Given the description of an element on the screen output the (x, y) to click on. 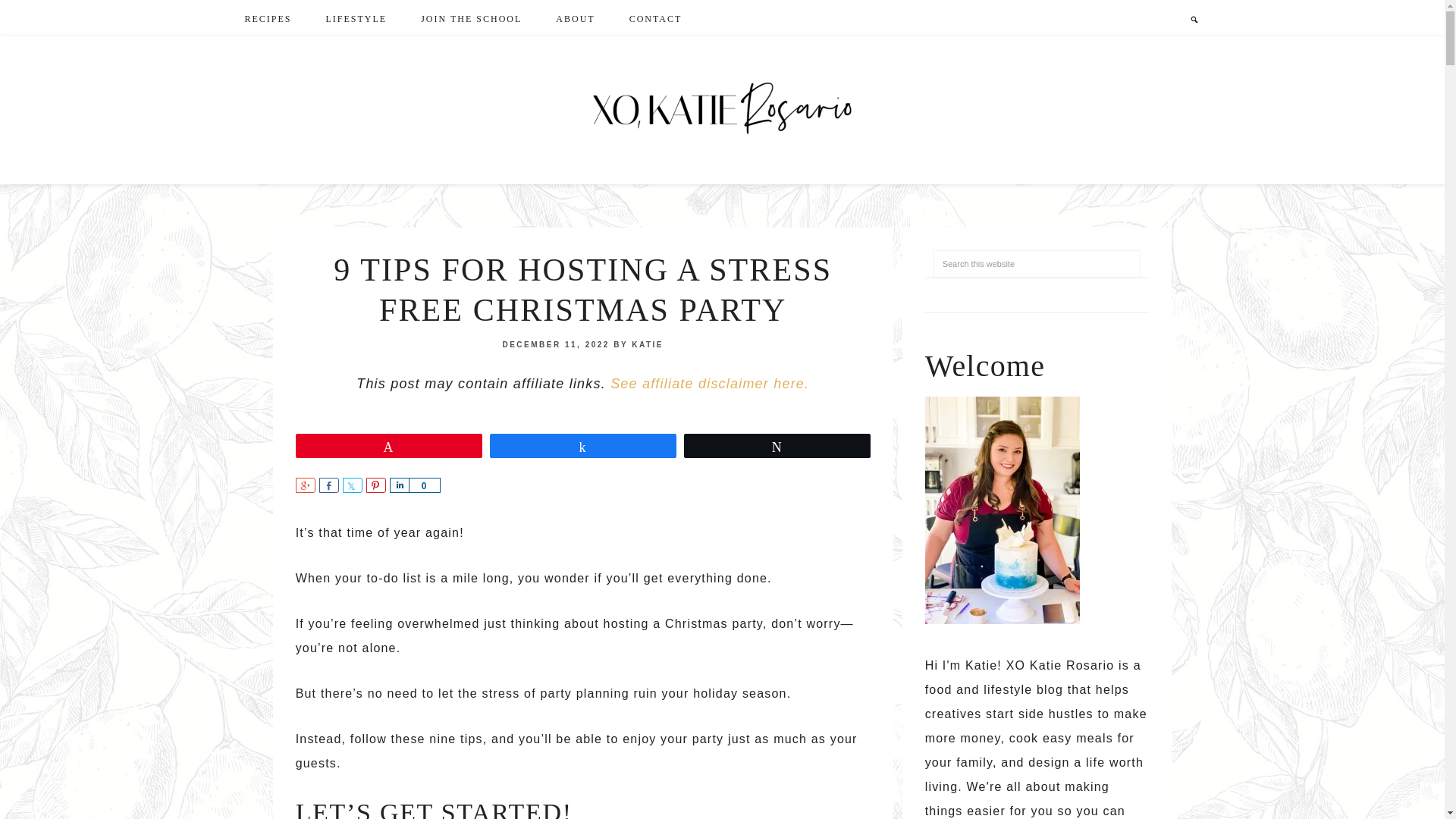
See affiliate disclaimer here. (709, 383)
RECIPES (266, 17)
XO, KATIE ROSARIO (722, 110)
KATIE (647, 344)
JOIN THE SCHOOL (471, 17)
LIFESTYLE (357, 17)
ABOUT (575, 19)
CONTACT (655, 19)
